Given the description of an element on the screen output the (x, y) to click on. 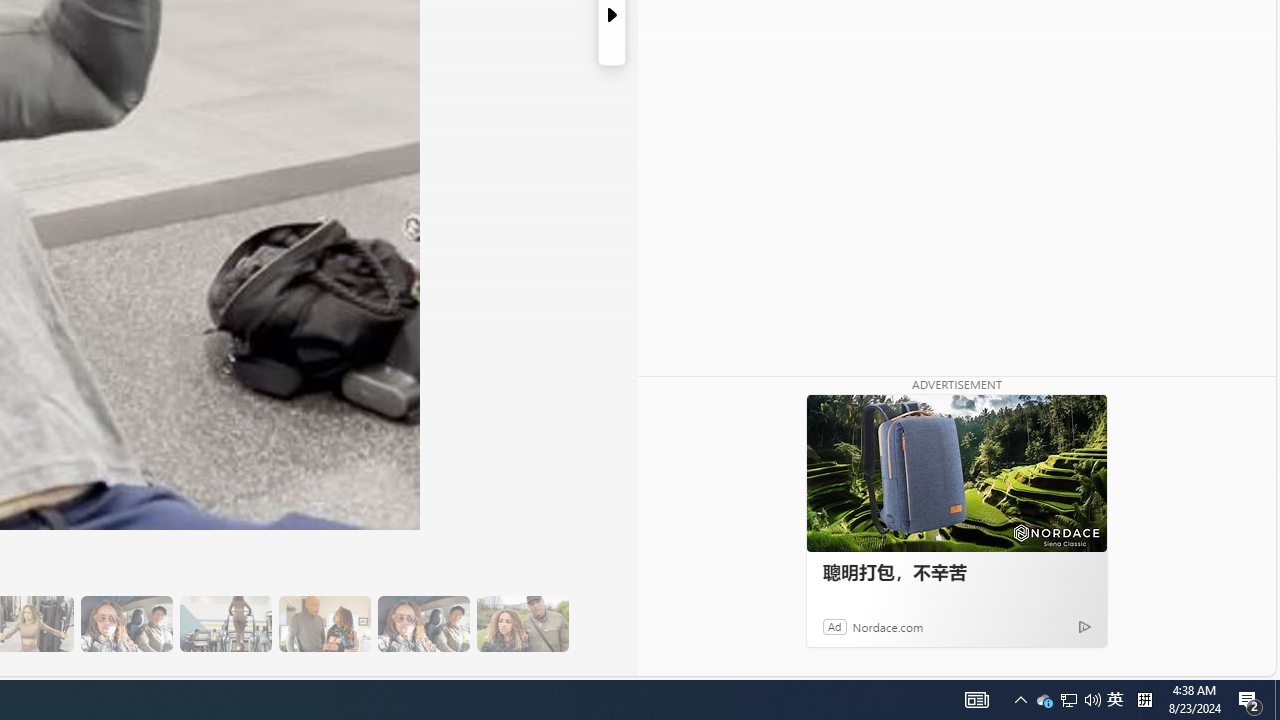
19 It Also Simplifies Thiings (423, 624)
20 Overall, It Will Improve Your Health (522, 624)
19 It Also Simplifies Thiings (423, 624)
Nordace.com (888, 626)
18 It's More Fun Doing It with Someone Else (324, 624)
Ad Choice (1084, 626)
18 It's More Fun Doing It with Someone Else (324, 624)
20 Overall, It Will Improve Your Health (522, 624)
